Given the description of an element on the screen output the (x, y) to click on. 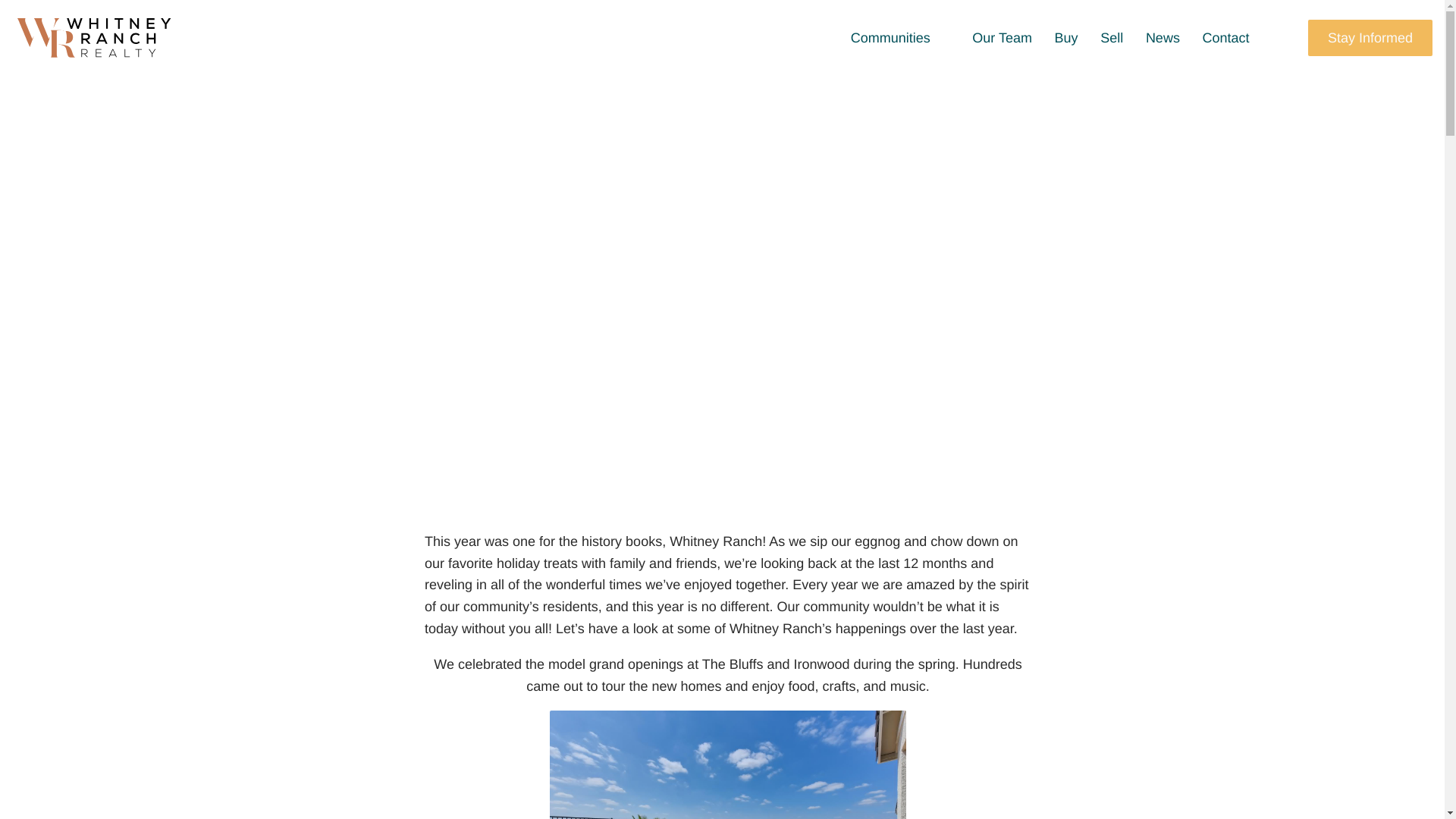
Stay Informed (1369, 37)
Communities (896, 37)
Buy (1066, 37)
Sell (1112, 37)
Contact (1232, 37)
News (1163, 37)
Our Team (1001, 37)
